Given the description of an element on the screen output the (x, y) to click on. 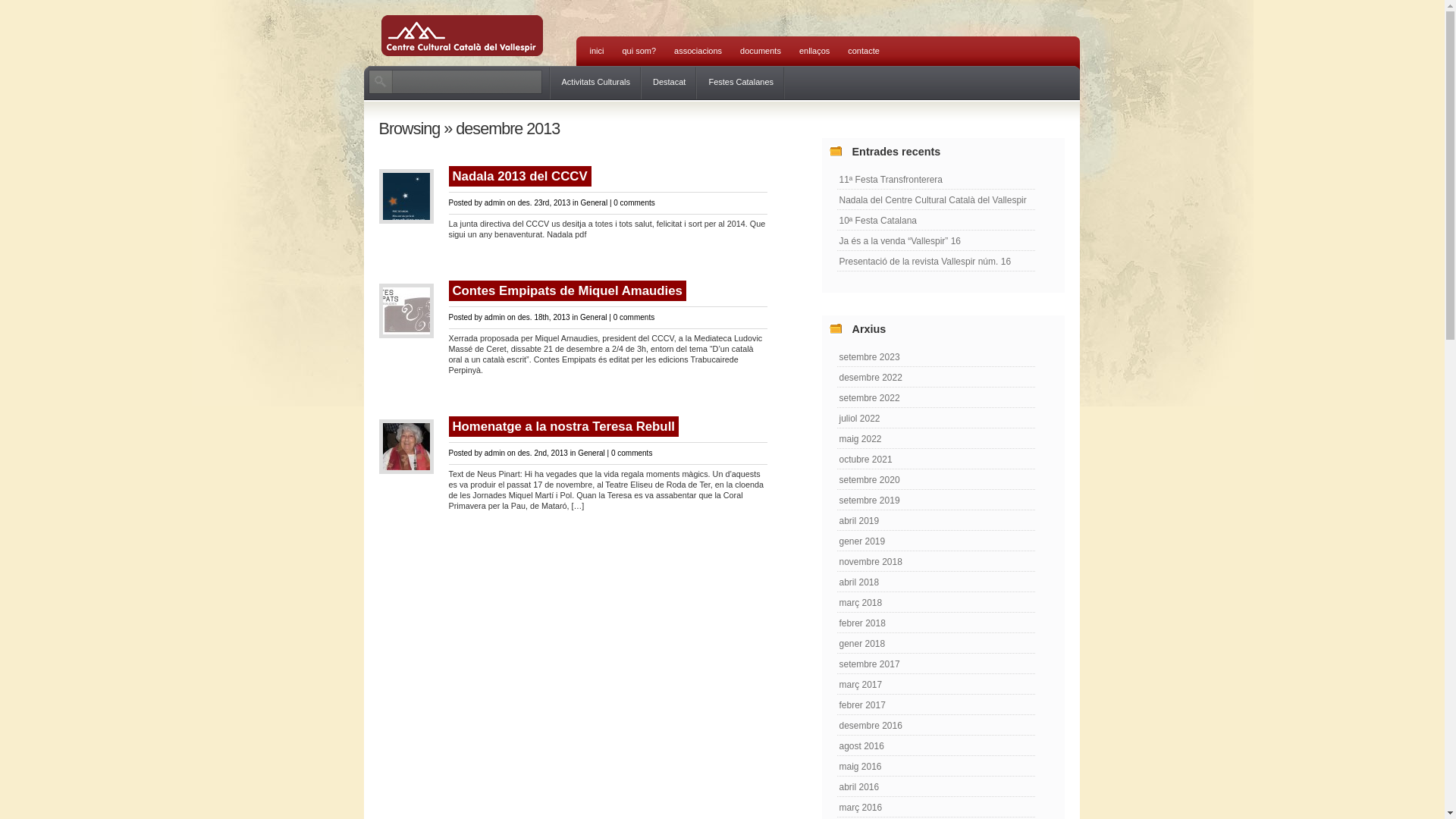
contacte Element type: text (863, 50)
Destacat Element type: text (668, 82)
maig 2016 Element type: text (936, 766)
0 comments Element type: text (633, 202)
setembre 2022 Element type: text (936, 397)
Activitats Culturals Element type: text (595, 82)
qui som? Element type: text (638, 50)
setembre 2020 Element type: text (936, 479)
octubre 2021 Element type: text (936, 458)
General Element type: text (593, 317)
0 comments Element type: text (633, 317)
juliol 2022 Element type: text (936, 417)
agost 2016 Element type: text (936, 745)
Contes Empipats de Miquel Amaudies Element type: text (567, 290)
admin Element type: text (494, 317)
desembre 2022 Element type: text (936, 377)
admin Element type: text (494, 202)
admin Element type: text (494, 452)
gener 2018 Element type: text (936, 643)
General Element type: text (591, 452)
Festes Catalanes Element type: text (740, 82)
desembre 2016 Element type: text (936, 725)
documents Element type: text (760, 50)
abril 2018 Element type: text (936, 581)
abril 2019 Element type: text (936, 520)
febrer 2017 Element type: text (936, 704)
gener 2019 Element type: text (936, 540)
setembre 2023 Element type: text (936, 356)
associacions Element type: text (698, 50)
0 comments Element type: text (631, 452)
inici Element type: text (596, 50)
setembre 2019 Element type: text (936, 499)
Homenatge a la nostra Teresa Rebull Element type: text (563, 426)
General Element type: text (594, 202)
novembre 2018 Element type: text (936, 561)
maig 2022 Element type: text (936, 438)
Nadala 2013 del CCCV Element type: text (519, 176)
setembre 2017 Element type: text (936, 663)
febrer 2018 Element type: text (936, 622)
abril 2016 Element type: text (936, 786)
